Given the description of an element on the screen output the (x, y) to click on. 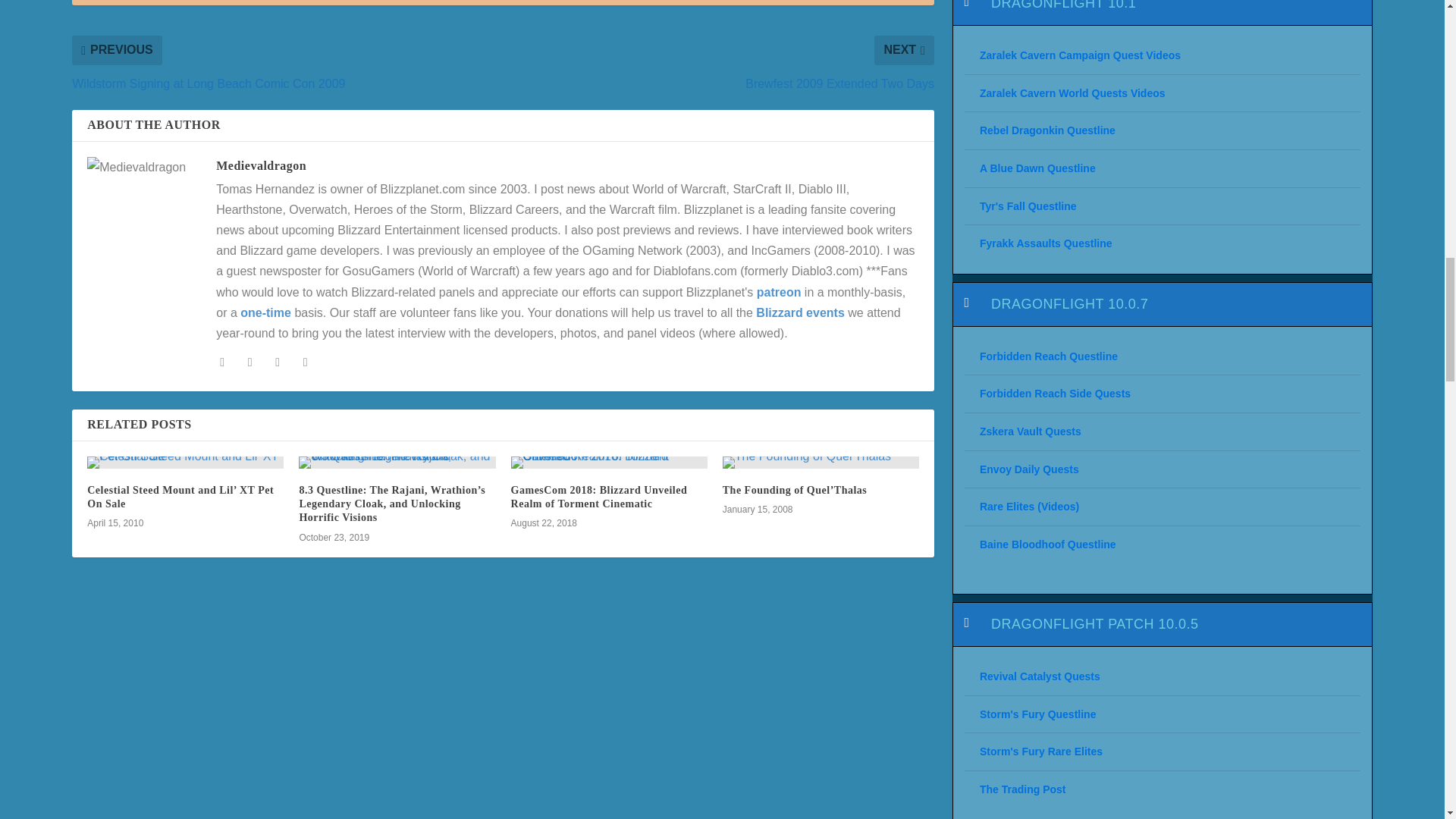
one-time (265, 312)
patreon (779, 291)
Medievaldragon (260, 164)
Blizzard events (799, 312)
